Given the description of an element on the screen output the (x, y) to click on. 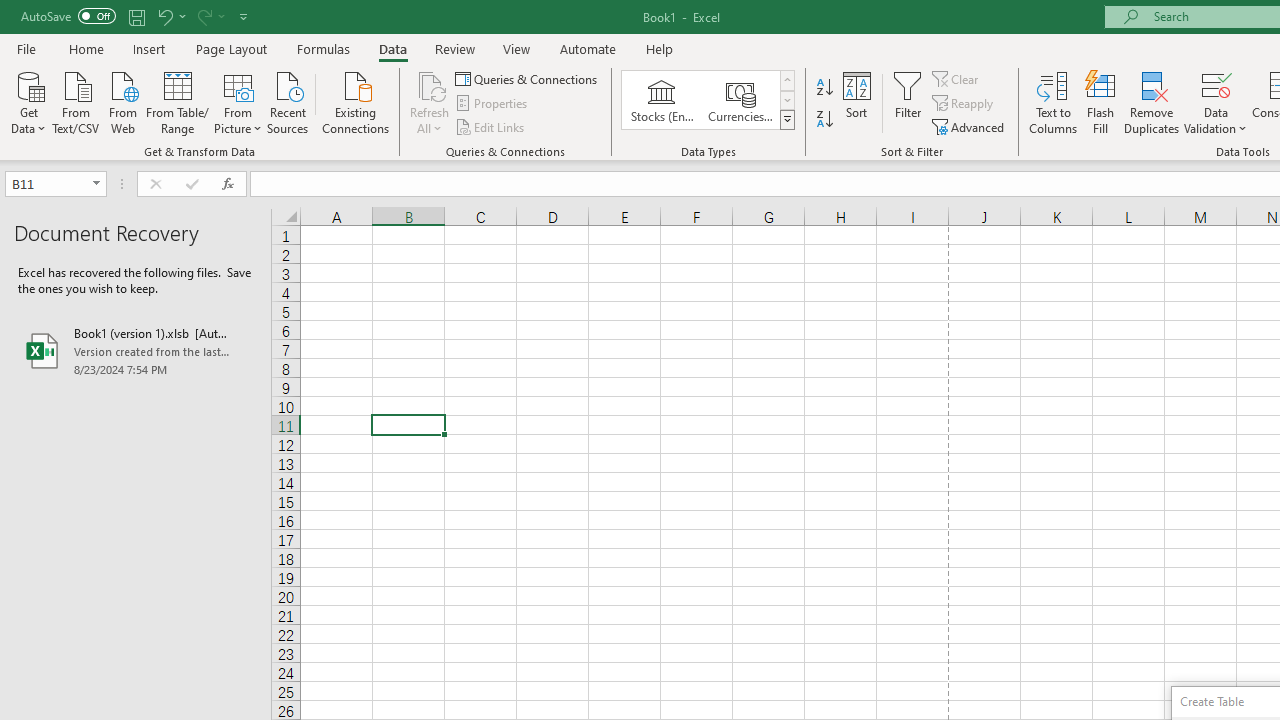
View (517, 48)
Sort... (856, 102)
System (10, 11)
From Picture (238, 101)
AutoSave (68, 16)
Data Validation... (1215, 84)
Filter (908, 102)
Data Validation... (1215, 102)
Customize Quick Access Toolbar (244, 15)
Refresh All (429, 102)
Name Box (46, 183)
Quick Access Toolbar (136, 16)
Formulas (323, 48)
Automate (588, 48)
Queries & Connections (527, 78)
